Given the description of an element on the screen output the (x, y) to click on. 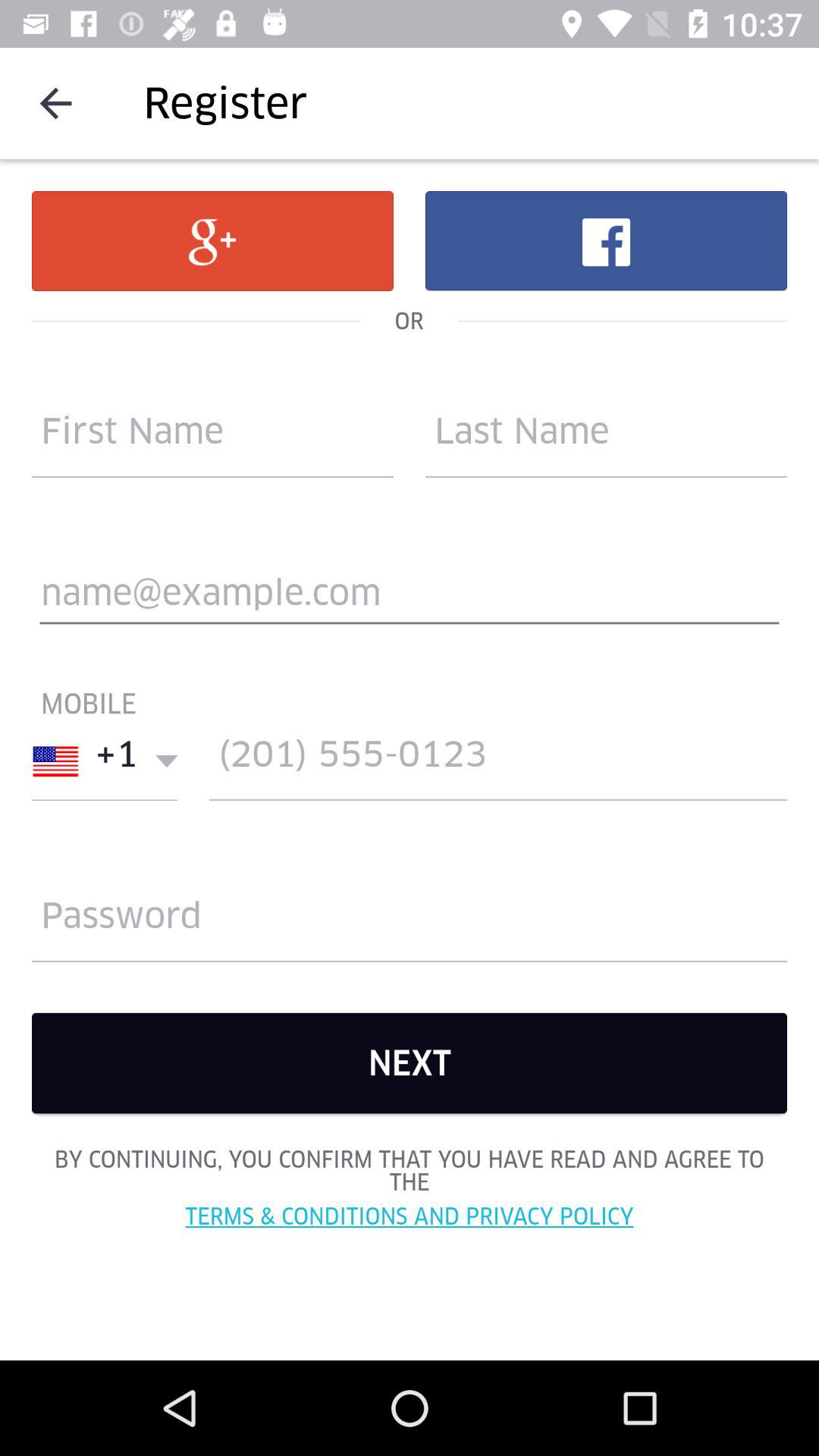
contact number filling area (498, 761)
